Given the description of an element on the screen output the (x, y) to click on. 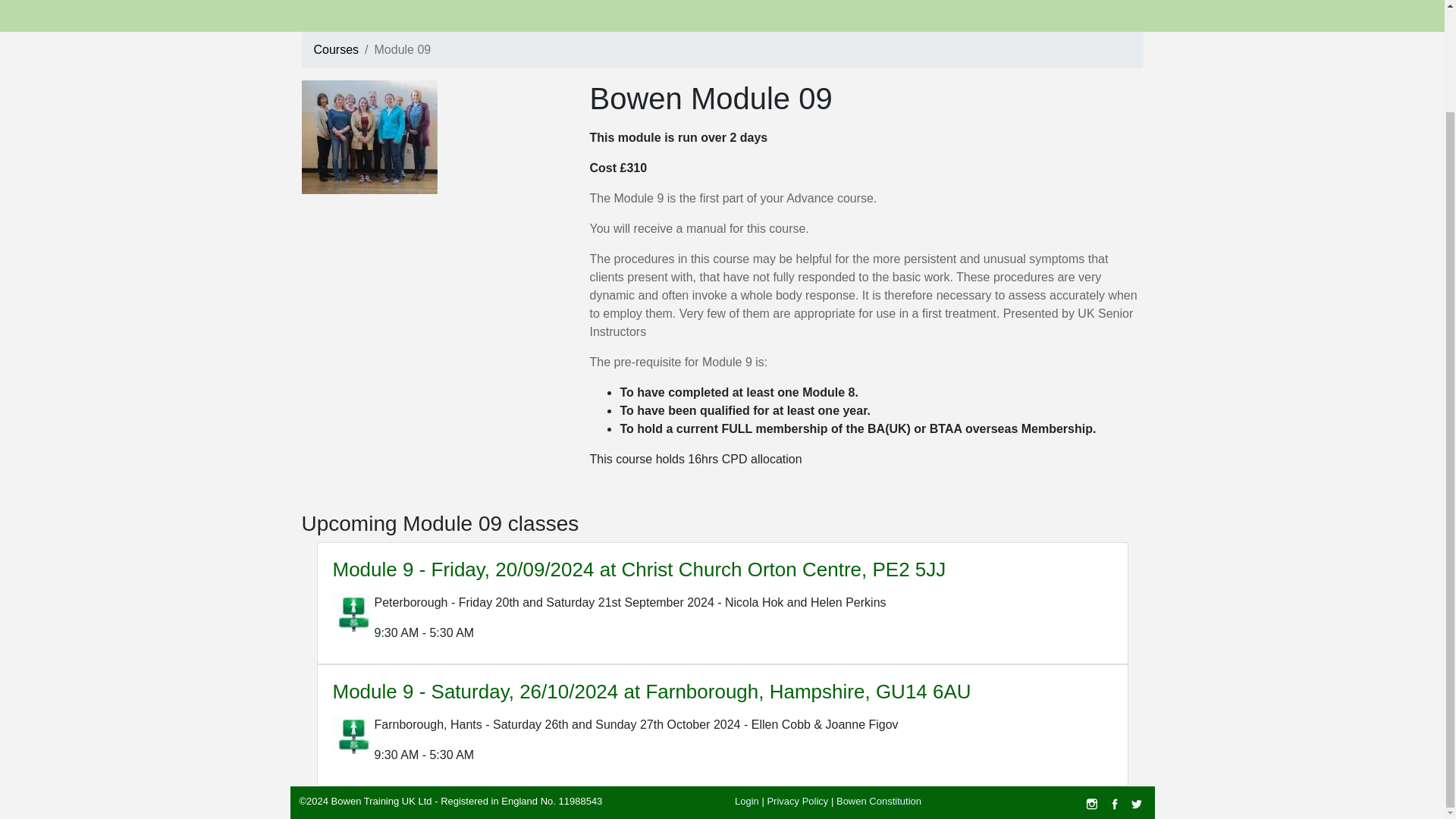
Courses (336, 49)
Login (746, 800)
Privacy Policy (797, 800)
Bowen Constitution (878, 800)
